Given the description of an element on the screen output the (x, y) to click on. 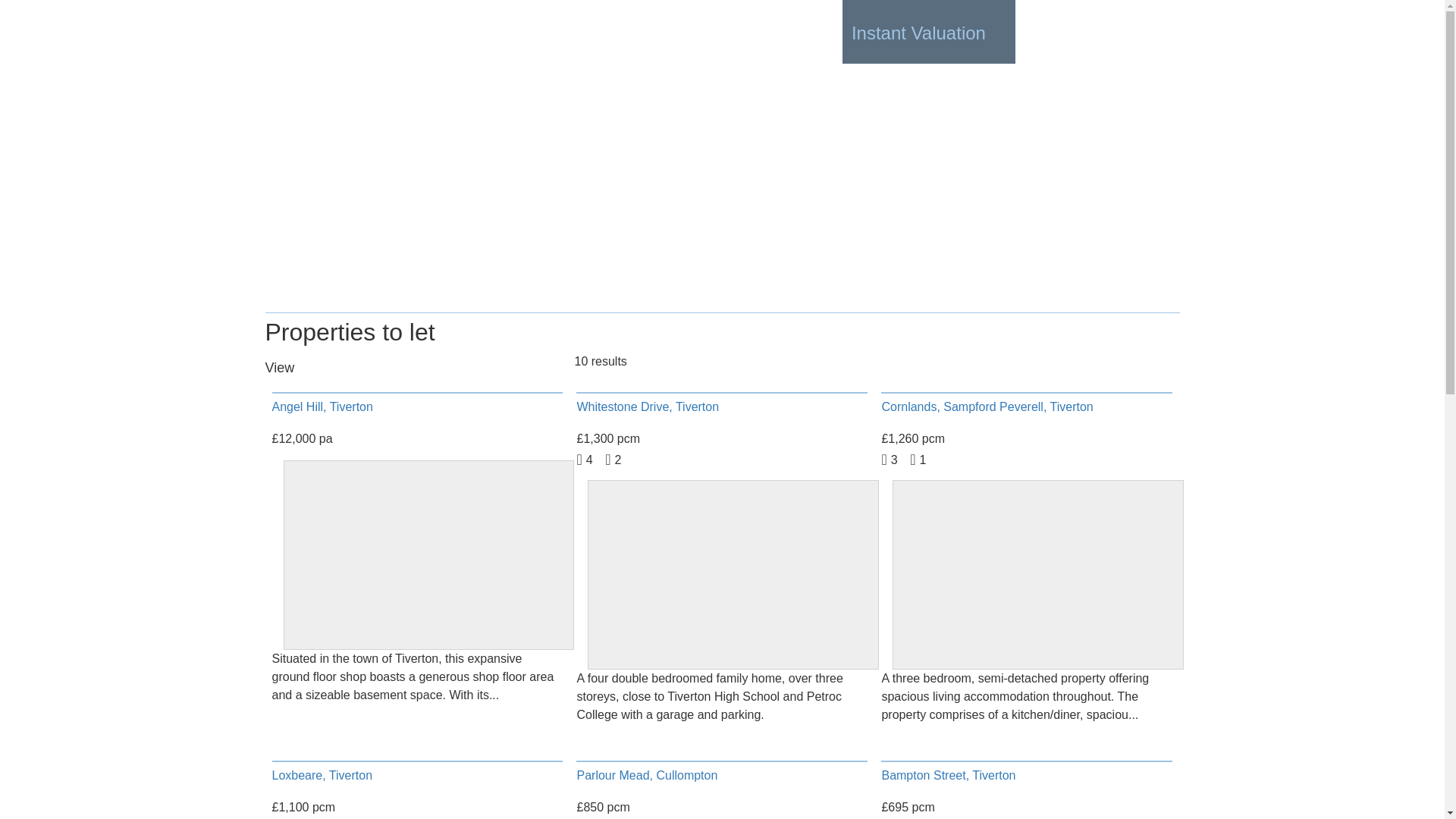
Menu Icon (1155, 33)
Menu Icon (1155, 33)
Instant Valuation (928, 31)
Whitestone Drive, Tiverton (647, 406)
Angel Hill, Tiverton (321, 406)
List (311, 368)
Map (327, 368)
Cornlands, Sampford Peverell, Tiverton (986, 406)
